Given the description of an element on the screen output the (x, y) to click on. 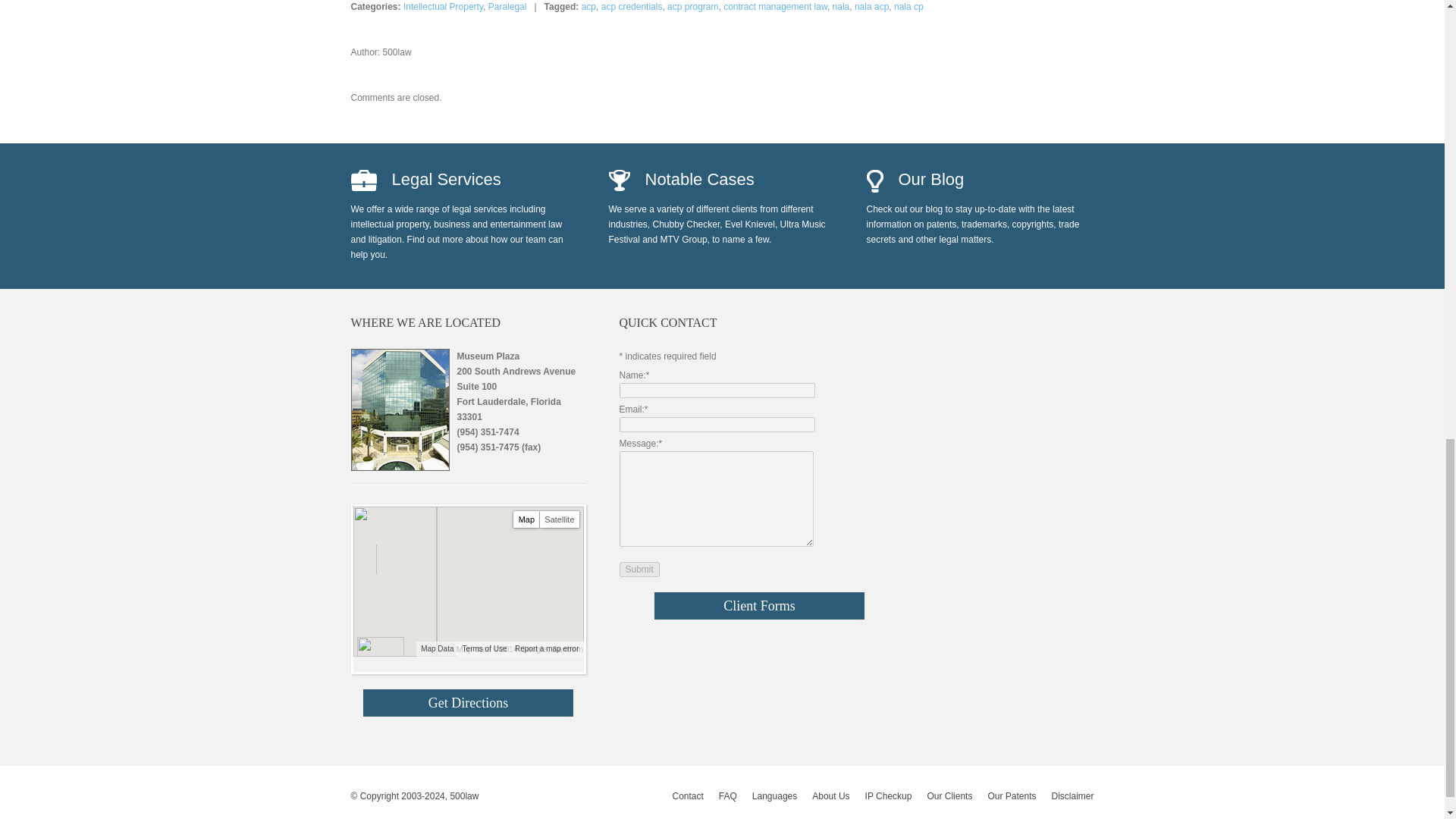
Zoom out (368, 564)
Show satellite imagery (559, 519)
Zoom in (368, 552)
Report errors in the road map or imagery to Google (546, 648)
Submit (638, 569)
Show street map (526, 519)
Click to see this area on Google Maps (379, 646)
